Given the description of an element on the screen output the (x, y) to click on. 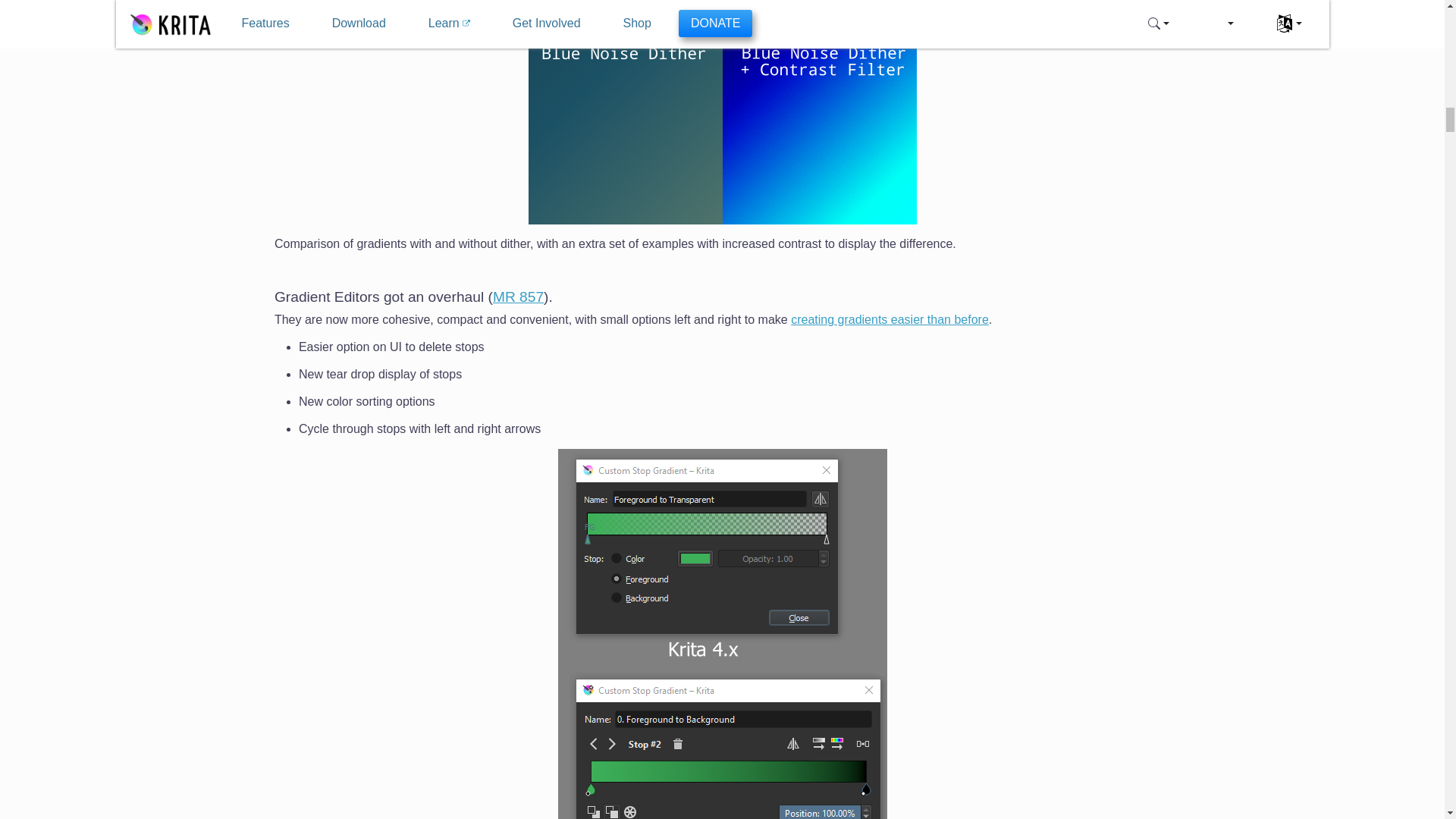
Comparison of dithered and non-dithered gradients (721, 112)
